Given the description of an element on the screen output the (x, y) to click on. 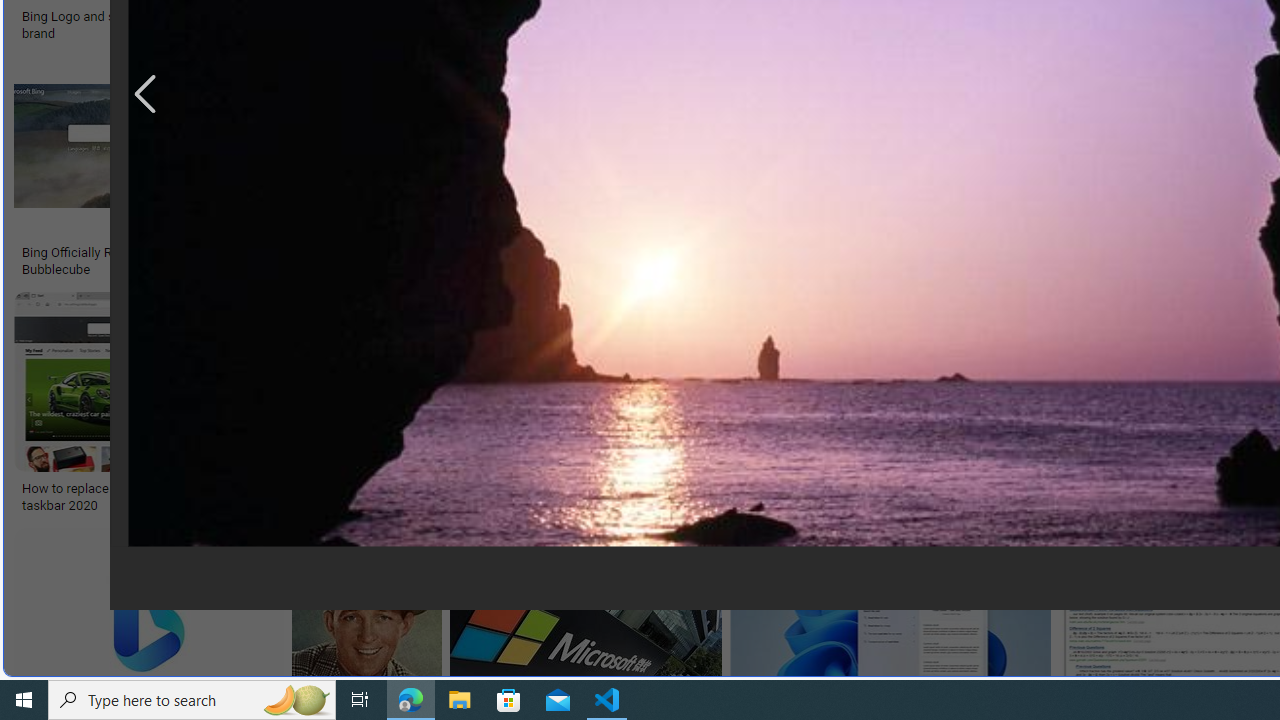
Bing - SEOLend (386, 253)
